Given the description of an element on the screen output the (x, y) to click on. 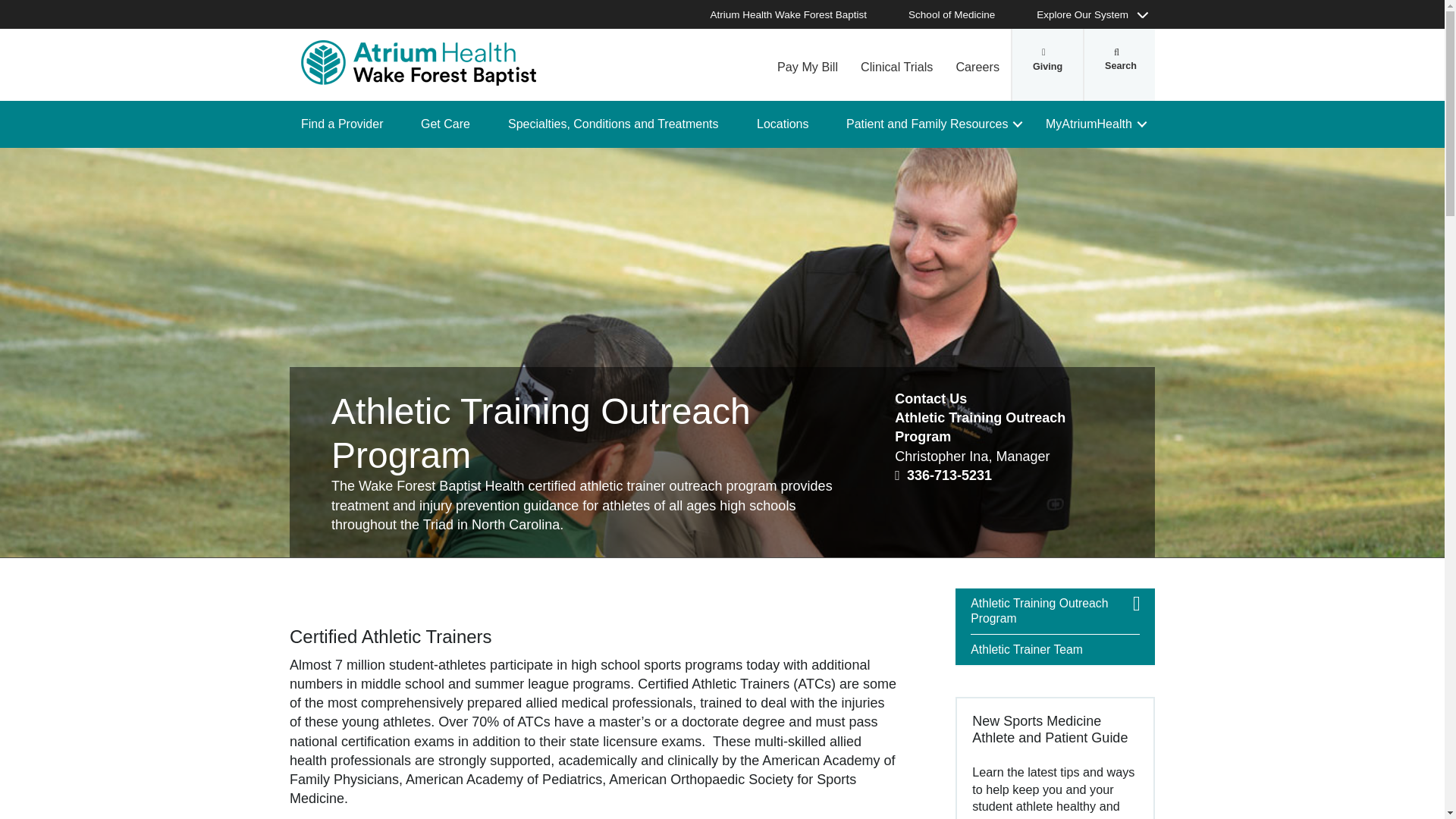
Clinical Trials (895, 64)
Find a Provider (347, 124)
336-713-5231 (943, 475)
Specialties, Conditions and Treatments (618, 124)
Atrium Health Wake Forest Baptist (418, 62)
Careers (976, 64)
Site Search (1118, 64)
Atrium Health Wake Forest Baptist (796, 14)
Pay My Bill (806, 64)
School of Medicine (959, 14)
